Given the description of an element on the screen output the (x, y) to click on. 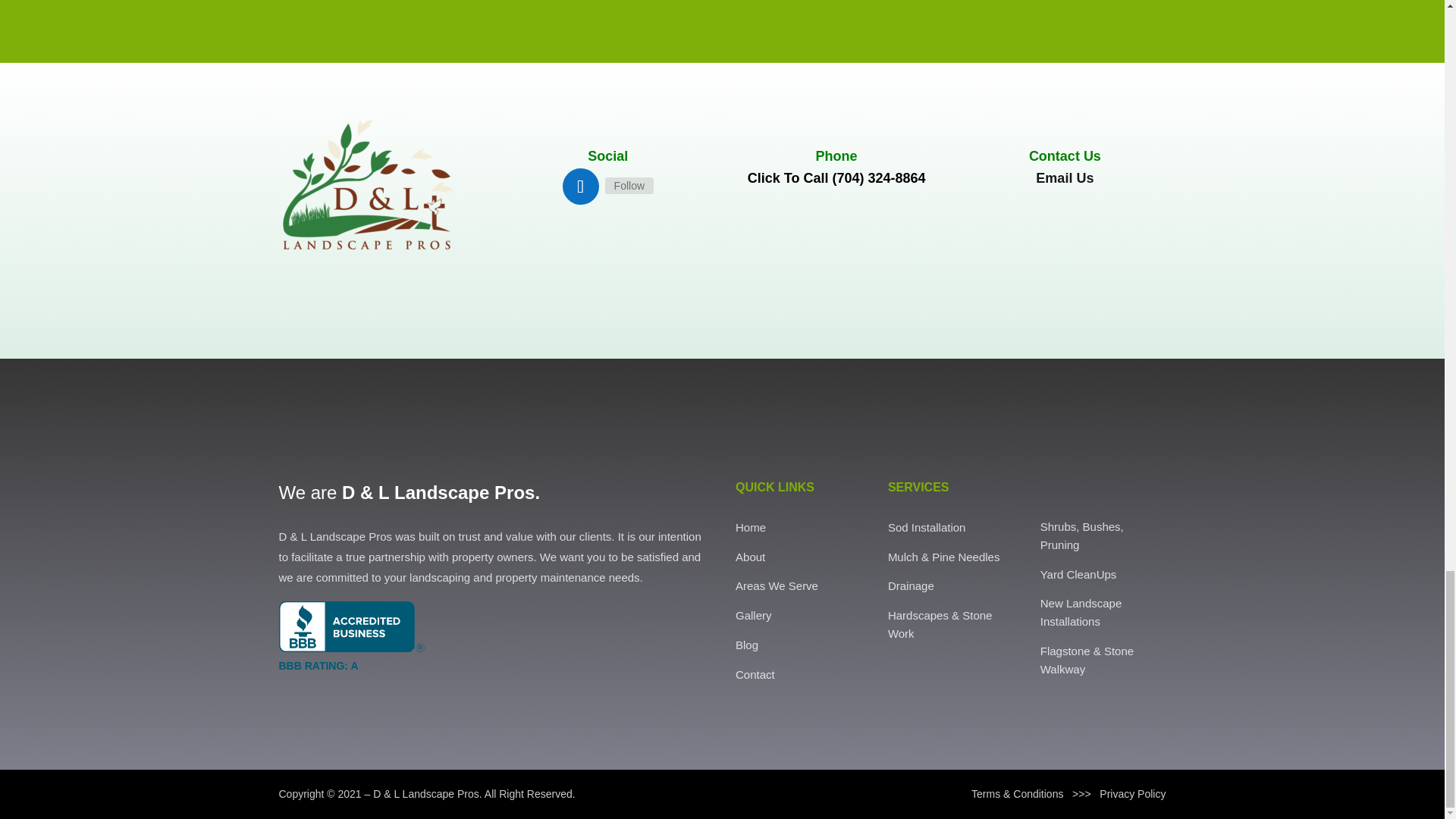
Follow on Facebook (580, 186)
Facebook (629, 185)
